Given the description of an element on the screen output the (x, y) to click on. 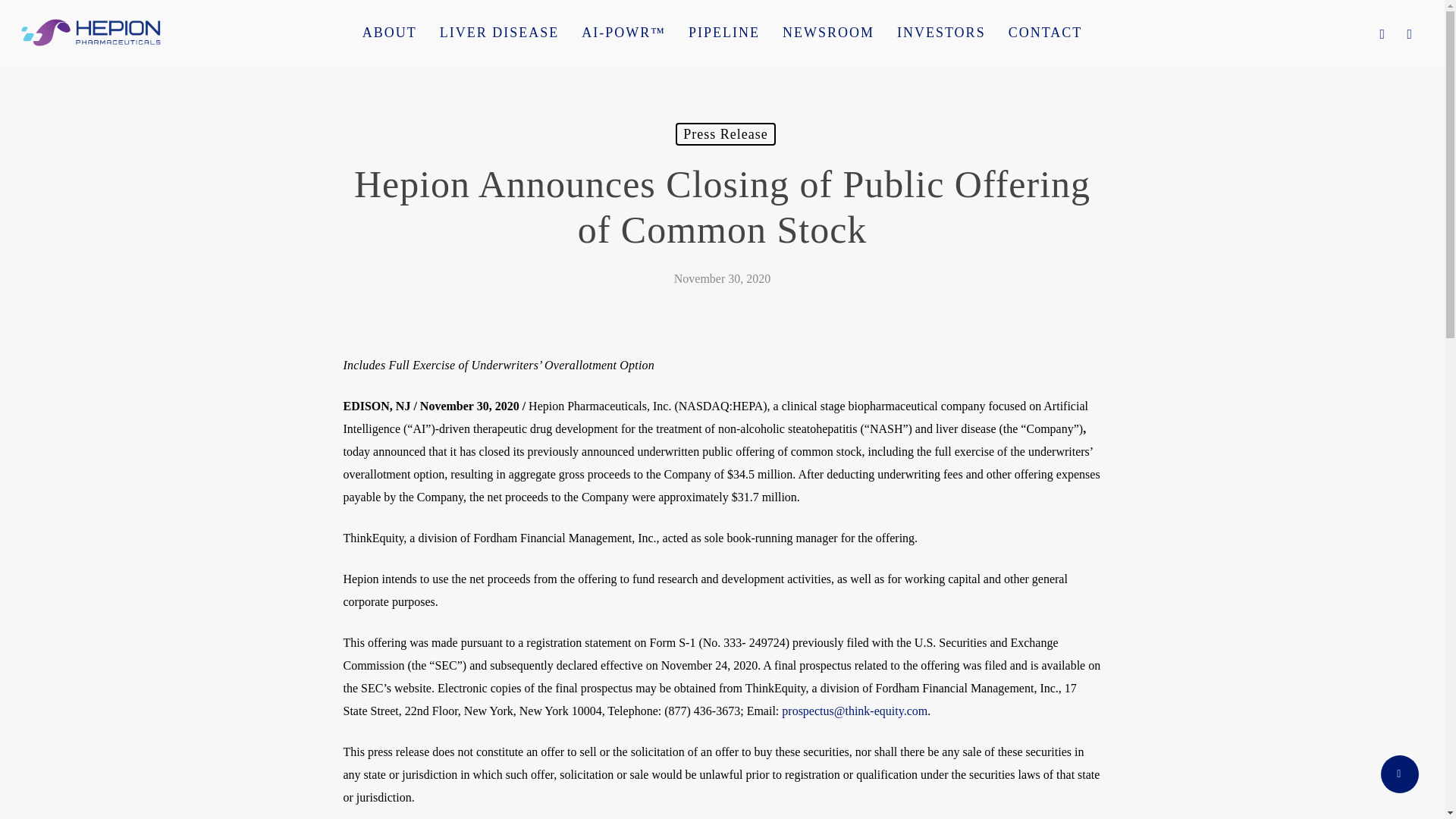
TWITTER (1382, 32)
INVESTORS (941, 32)
Press Release (724, 133)
LIVER DISEASE (499, 32)
CONTACT (1045, 32)
ABOUT (389, 32)
NEWSROOM (828, 32)
PIPELINE (724, 32)
LINKEDIN (1409, 32)
